Given the description of an element on the screen output the (x, y) to click on. 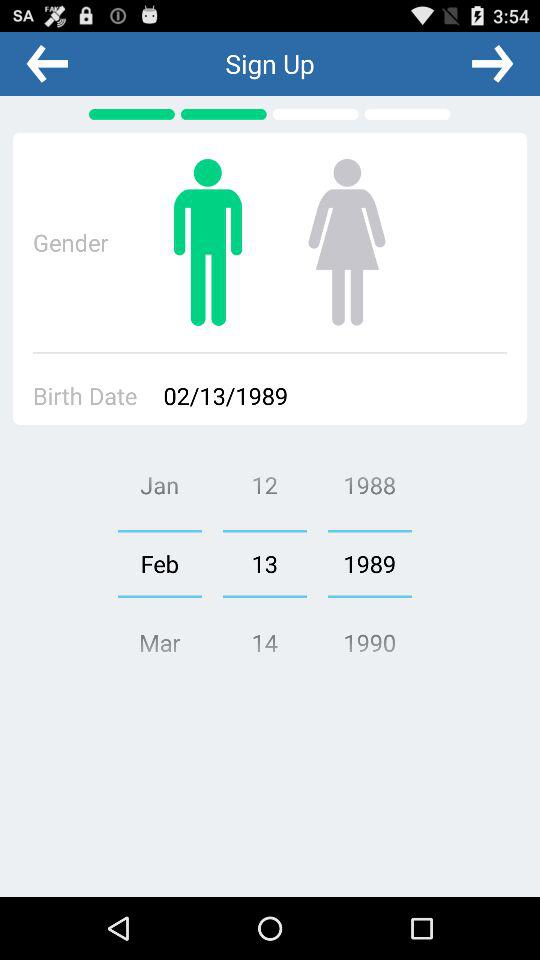
go forward (492, 63)
